Given the description of an element on the screen output the (x, y) to click on. 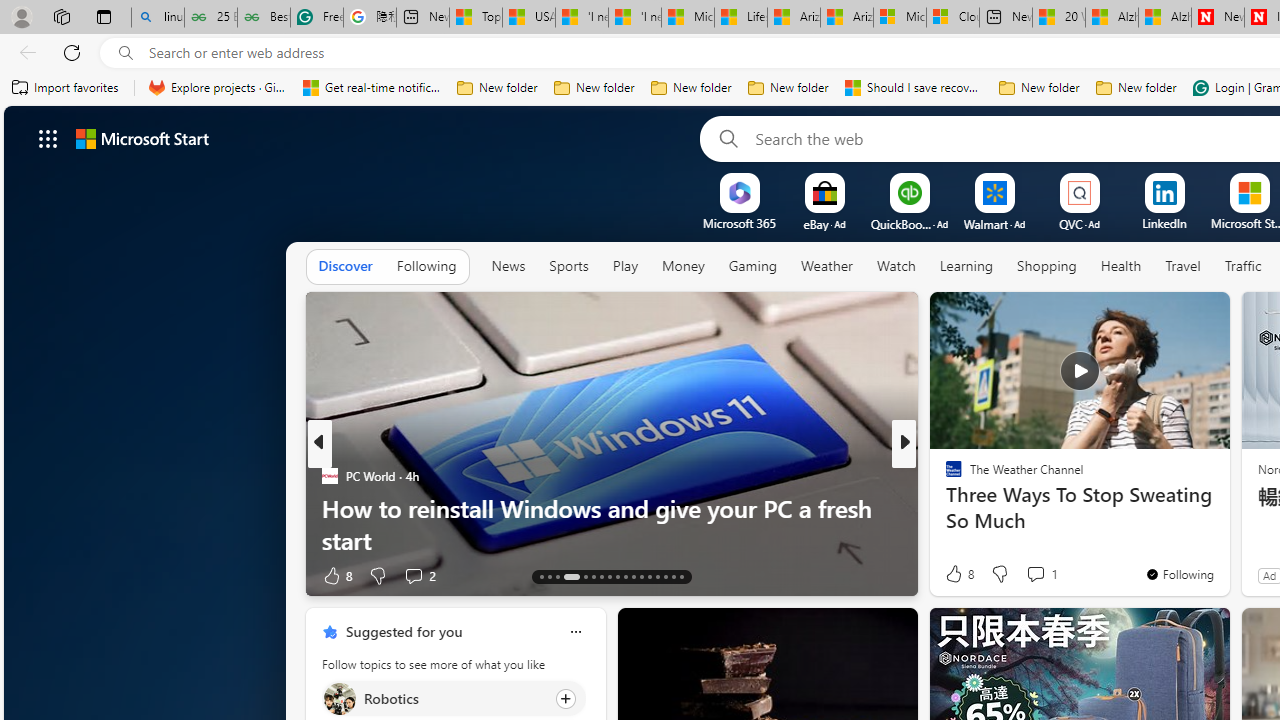
86 Like (956, 574)
Top Stories - MSN (475, 17)
Nordace (959, 507)
Search icon (125, 53)
View comments 36 Comment (1051, 574)
Eco Hugo (944, 475)
Money (682, 267)
AutomationID: tab-17 (585, 576)
AutomationID: tab-19 (600, 576)
AutomationID: tab-26 (656, 576)
Shopping (1046, 267)
